Given the description of an element on the screen output the (x, y) to click on. 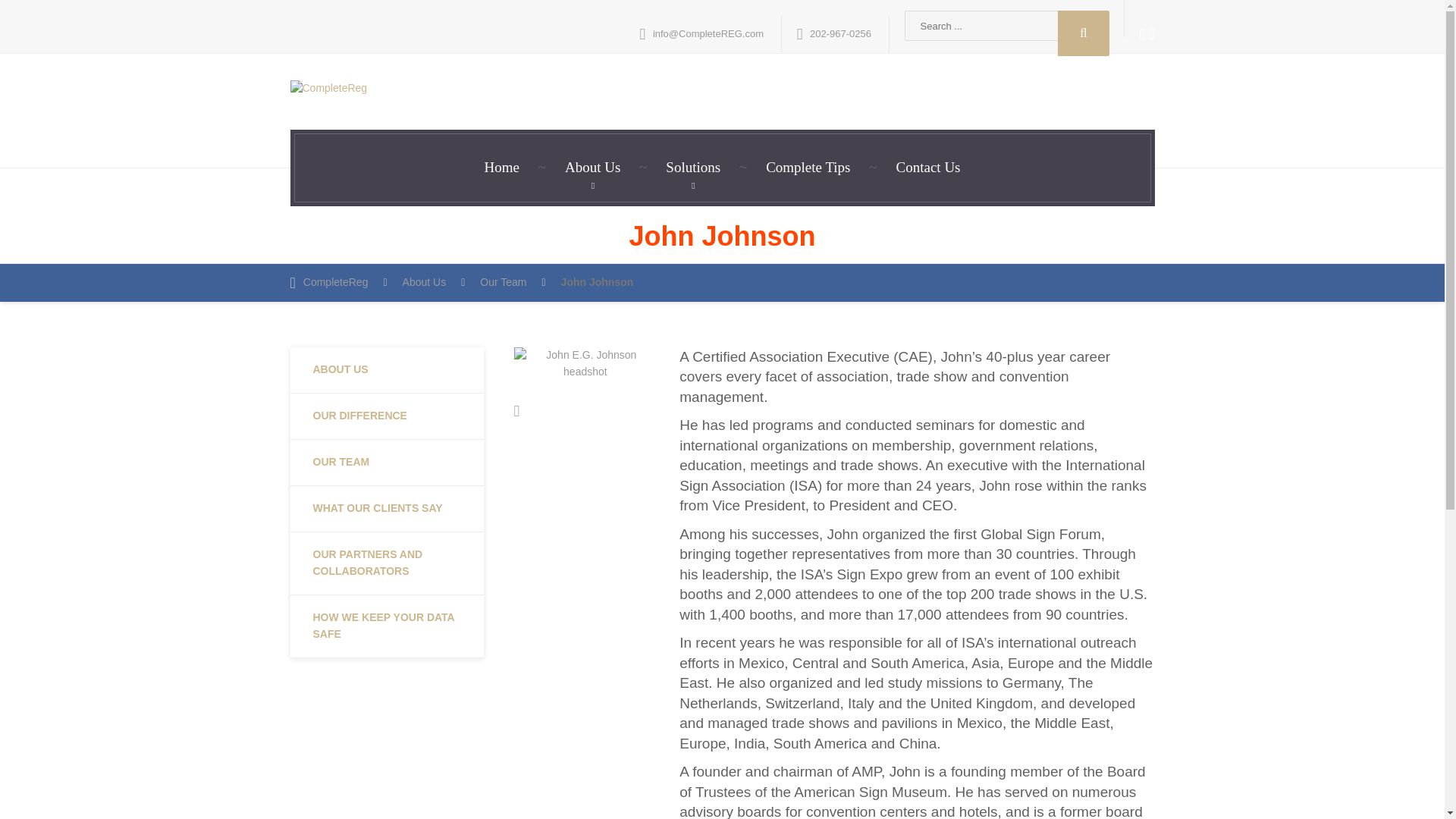
About Us (592, 167)
OUR DIFFERENCE (386, 416)
OUR TEAM (386, 462)
Solutions (692, 167)
Home (501, 167)
CompleteReg (338, 282)
Go to CompleteReg. (338, 282)
WHAT OUR CLIENTS SAY (386, 509)
HOW WE KEEP YOUR DATA SAFE (386, 626)
OUR PARTNERS AND COLLABORATORS (386, 563)
